Given the description of an element on the screen output the (x, y) to click on. 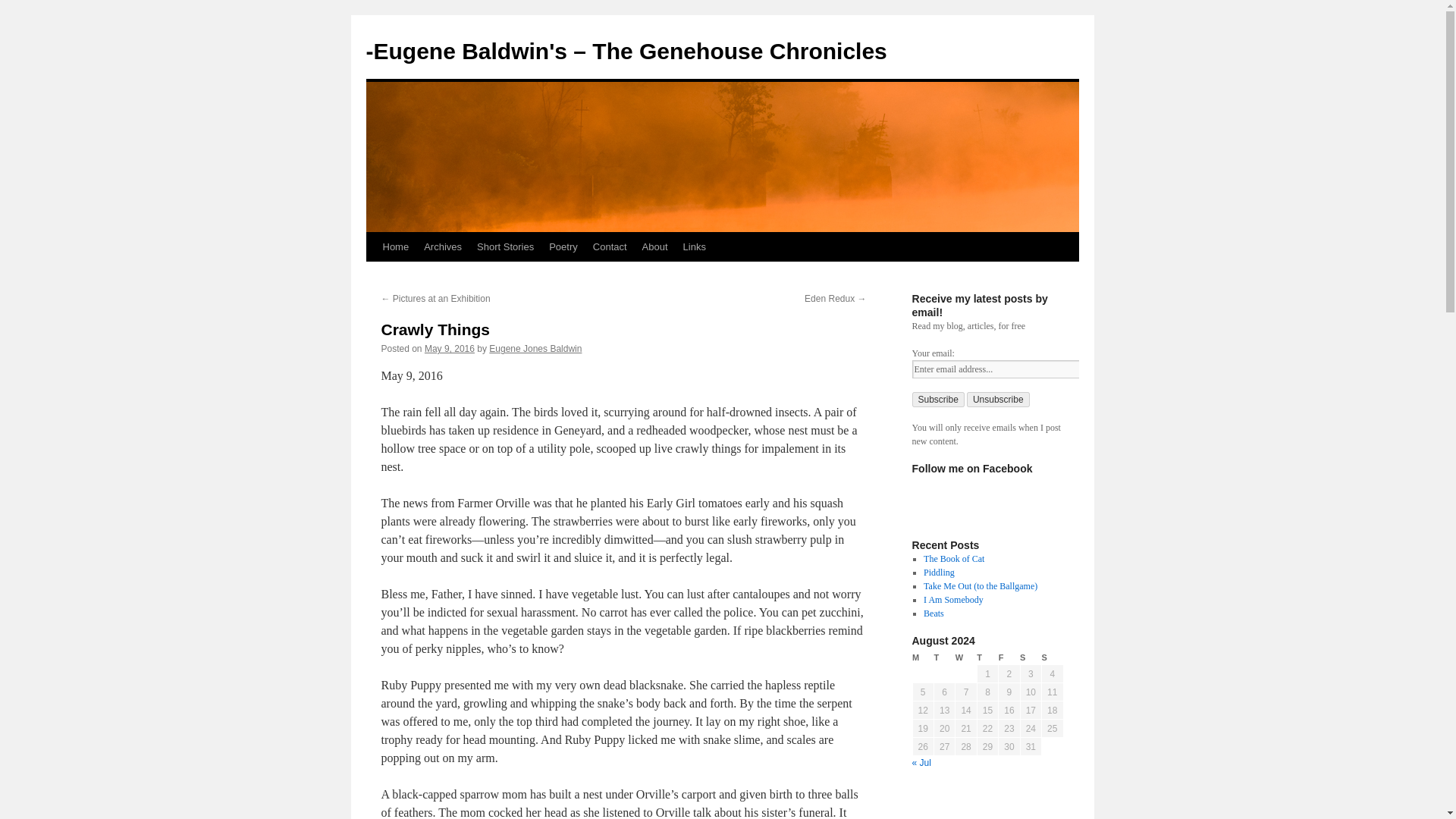
May 9, 2016 (449, 348)
Piddling (939, 572)
View all posts by Eugene Jones Baldwin (534, 348)
Unsubscribe (997, 399)
Poetry (563, 246)
Tuesday (944, 657)
Enter email address... (1008, 369)
Beats (933, 613)
Thursday (986, 657)
Unsubscribe (997, 399)
